Given the description of an element on the screen output the (x, y) to click on. 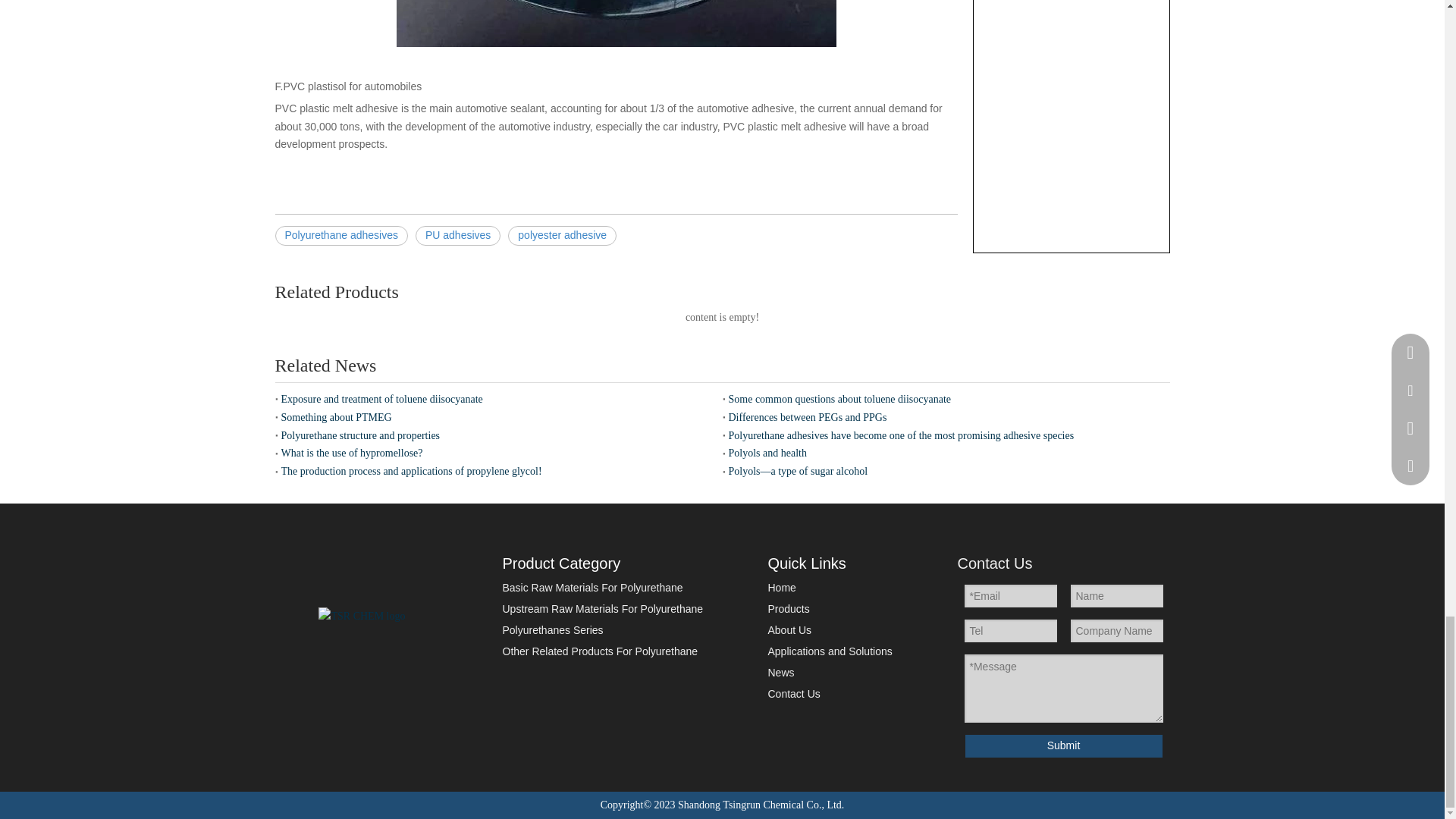
Exposure and treatment of toluene diisocyanate (498, 399)
Something about PTMEG (498, 417)
Basic Raw Materials For Polyurethane (592, 587)
The production process and applications of propylene glycol! (498, 471)
Other Related Products For Polyurethane (599, 651)
Polyurethane adhesives (341, 235)
Some common questions about toluene diisocyanate (945, 399)
Polyurethane structure and properties (498, 435)
Polyurethanes Series (552, 630)
